Given the description of an element on the screen output the (x, y) to click on. 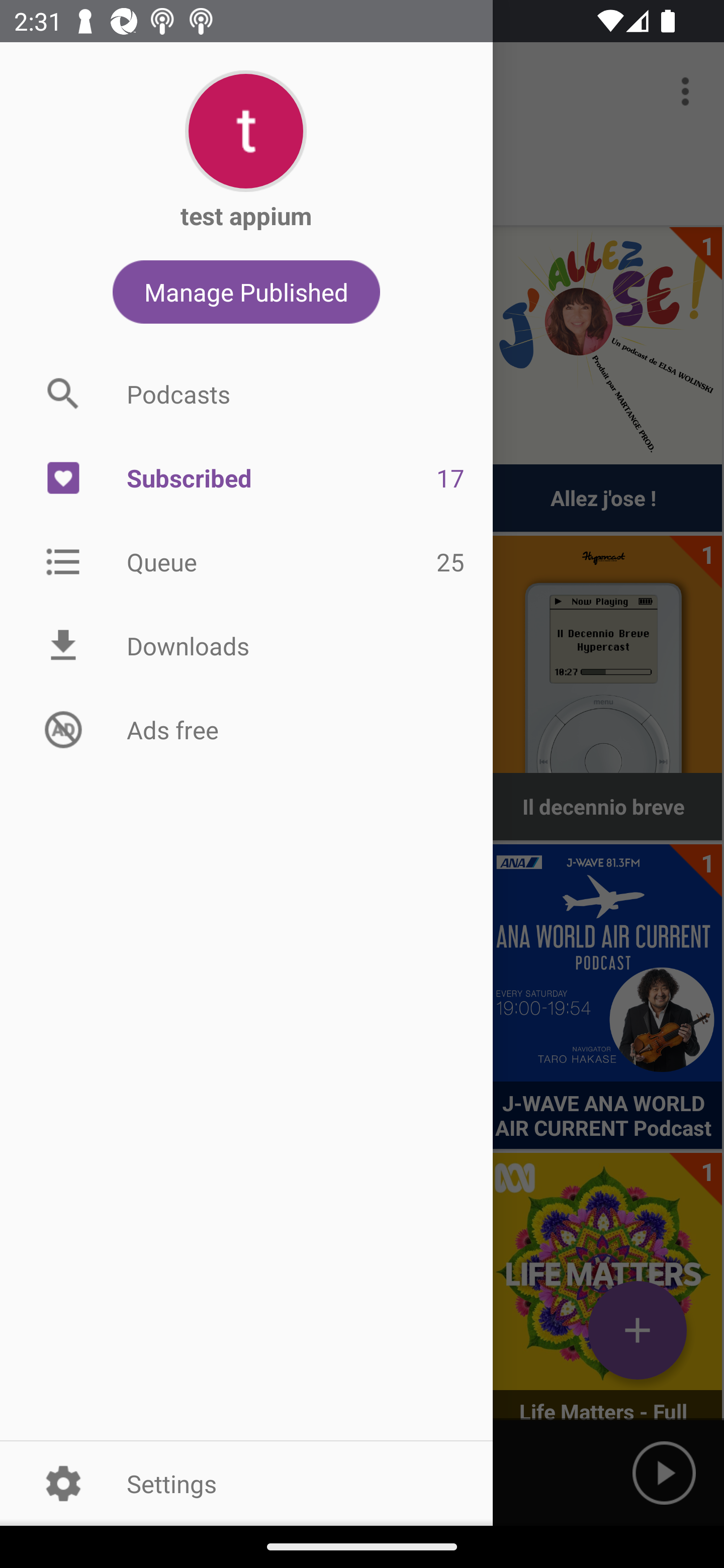
Manage Published (246, 291)
Picture Podcasts (246, 393)
Picture Subscribed 17 (246, 477)
Picture Queue 25 (246, 561)
Picture Downloads (246, 645)
Picture Ads free (246, 728)
Settings Picture Settings (246, 1482)
